Given the description of an element on the screen output the (x, y) to click on. 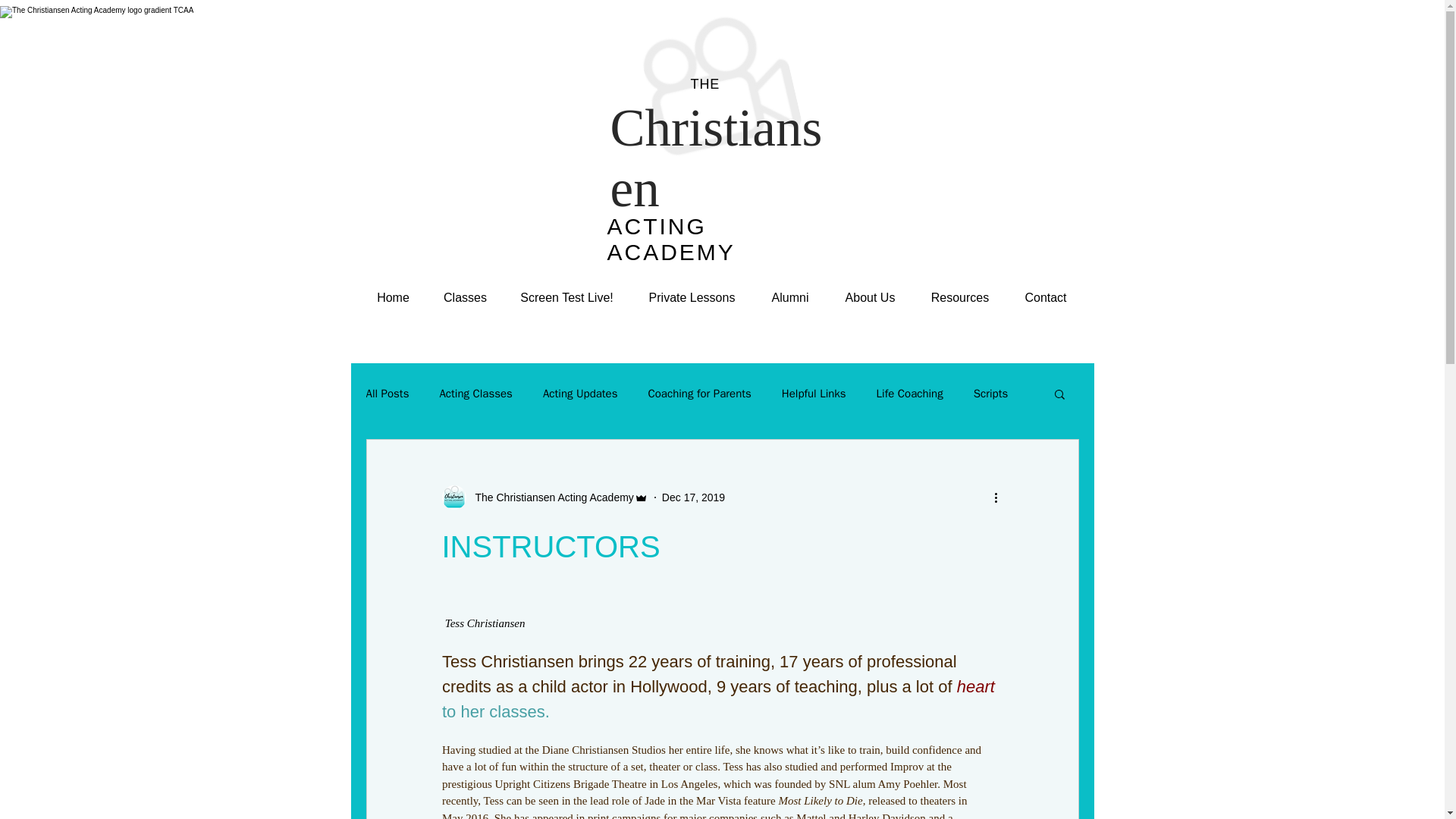
The Christiansen Acting Academy (544, 497)
Acting Updates (580, 393)
Alumni (790, 297)
Coaching for Parents (699, 393)
All Posts (387, 393)
Home (393, 297)
Screen Test Live! (566, 297)
Contact (1045, 297)
Private Lessons (692, 297)
Dec 17, 2019 (693, 497)
Life Coaching (909, 393)
Scripts (991, 393)
Helpful Links (813, 393)
Resources (959, 297)
Acting Classes (475, 393)
